Given the description of an element on the screen output the (x, y) to click on. 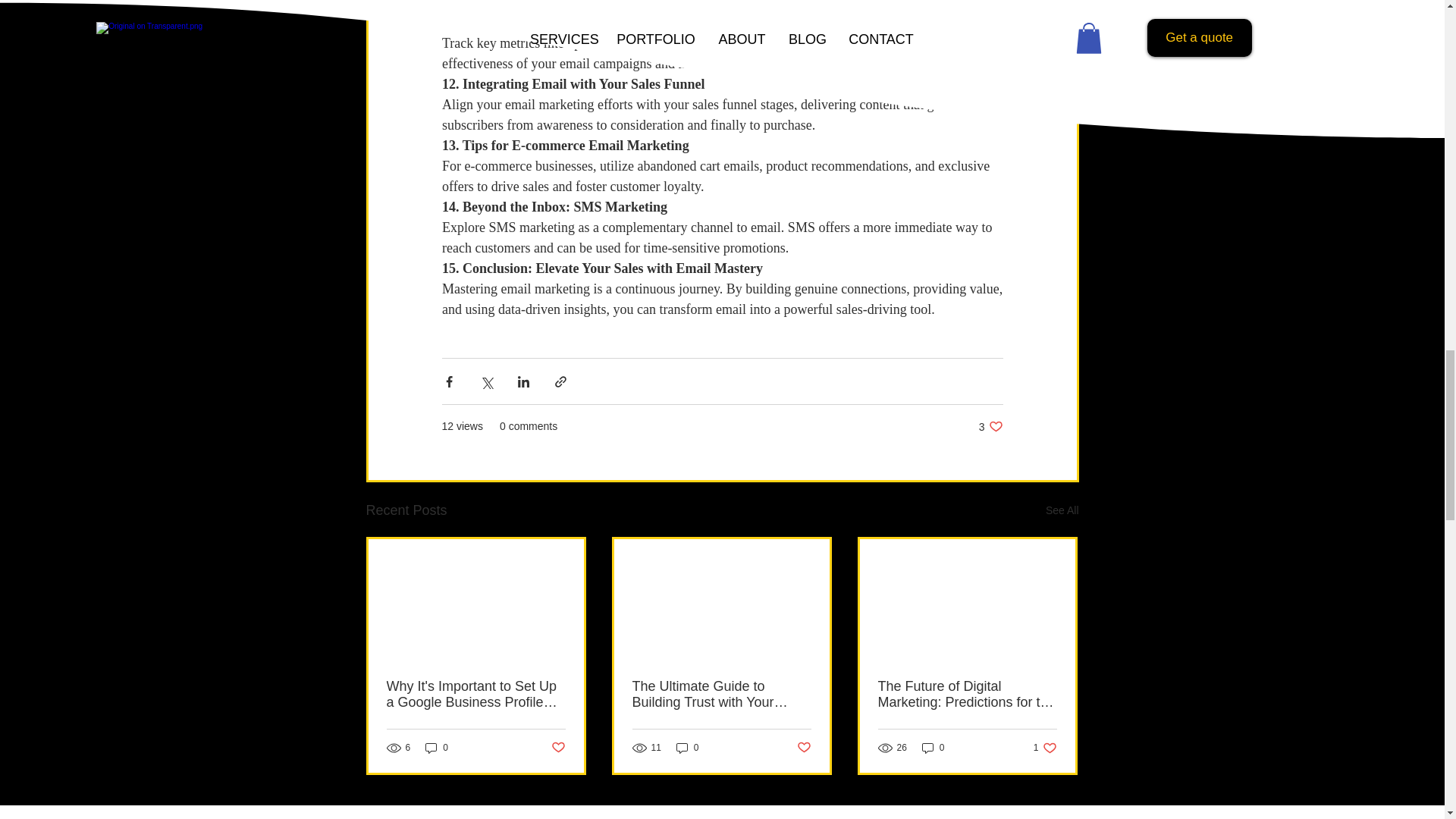
Post not marked as liked (803, 747)
0 (687, 748)
Post not marked as liked (557, 747)
See All (1061, 510)
0 (990, 426)
